Given the description of an element on the screen output the (x, y) to click on. 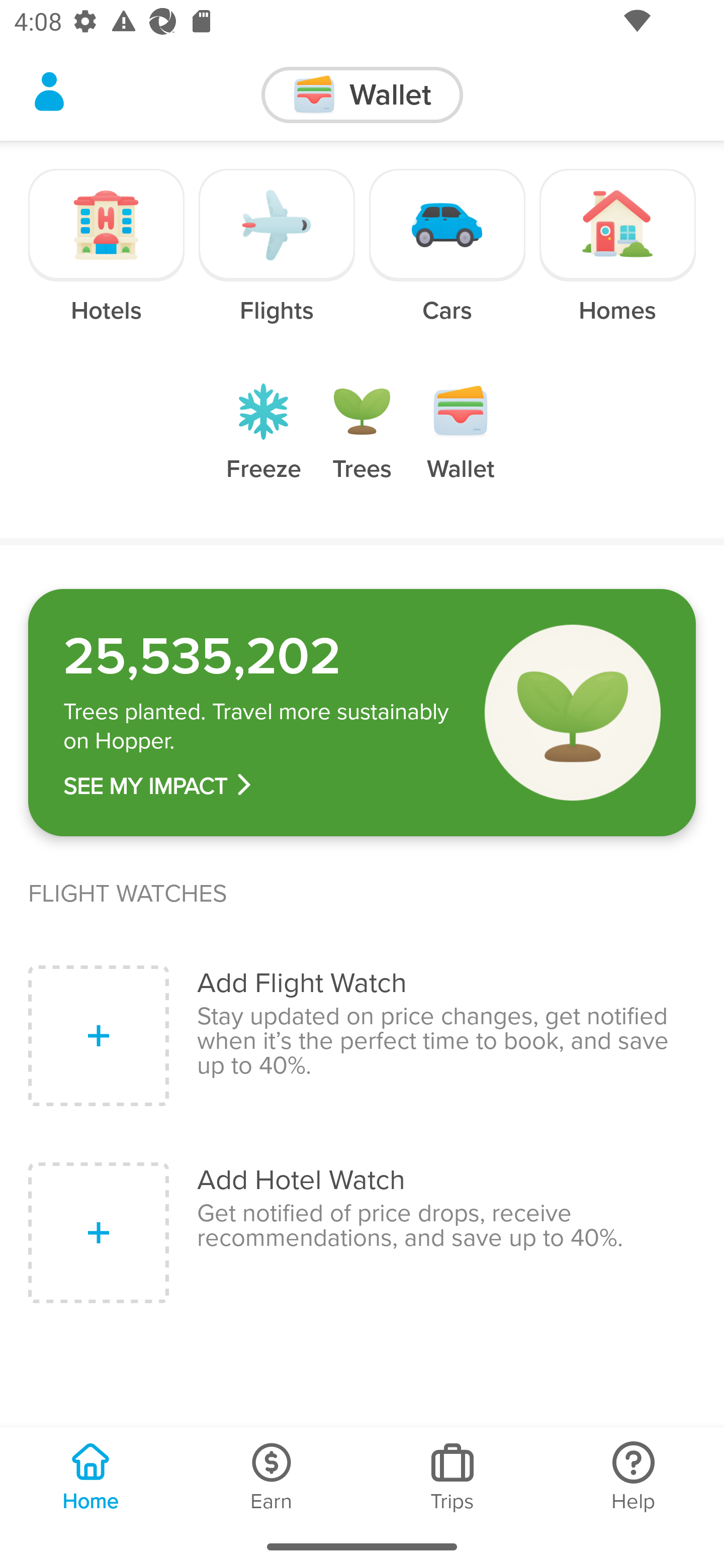
‍Wallet (362, 95)
Hotels (106, 260)
Flights (276, 260)
Cars (447, 260)
Homes (617, 260)
Freeze (263, 446)
Trees (361, 446)
Wallet (460, 446)
‍25,535,202 (259, 656)
‍Trees planted. Travel more sustainably on Hopper. (259, 726)
‍SEE MY IMPACT ​ (259, 786)
Earn (271, 1475)
Trips (452, 1475)
Help (633, 1475)
